Given the description of an element on the screen output the (x, y) to click on. 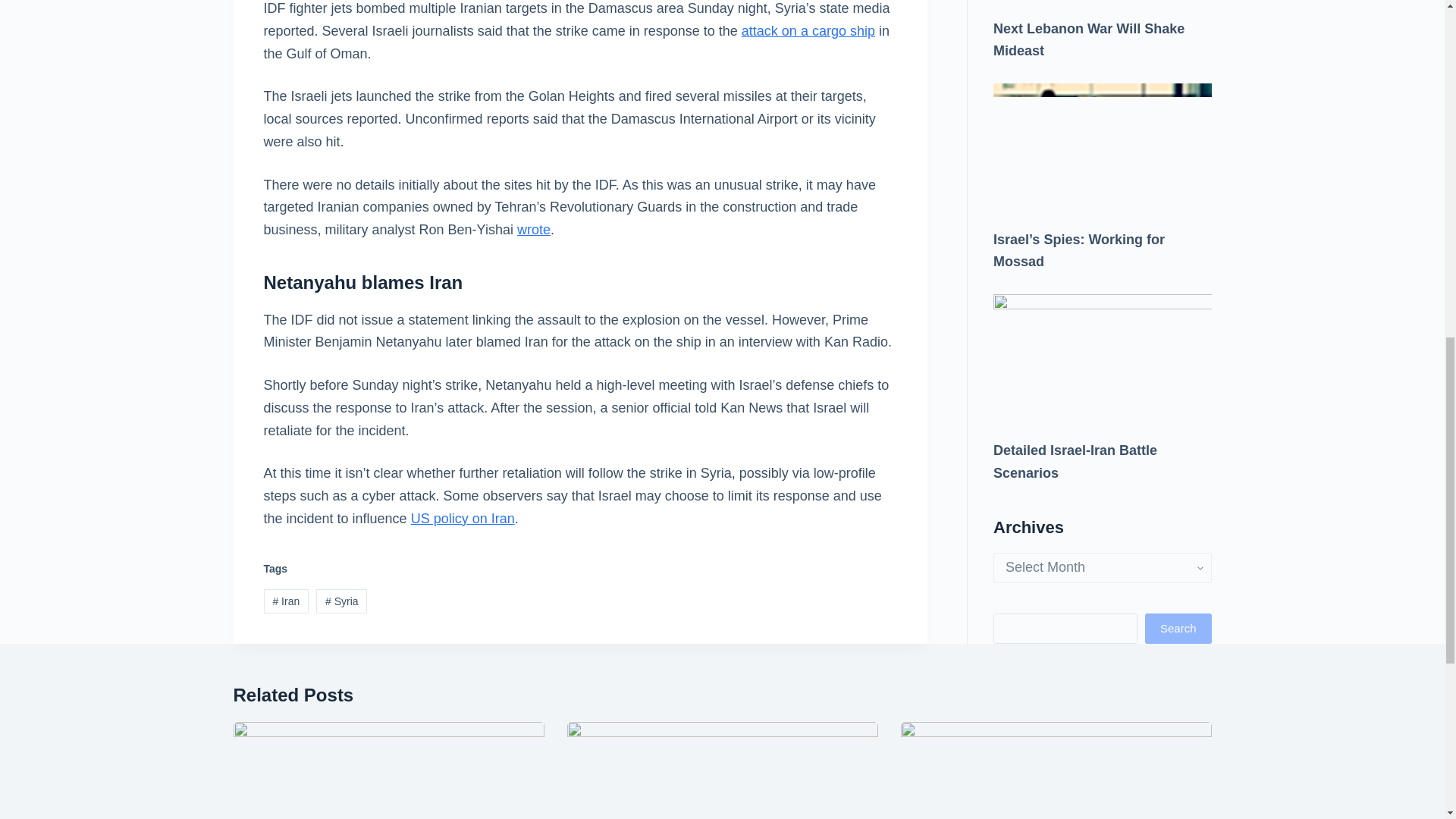
Search (1177, 111)
wrote (533, 229)
US policy on Iran (462, 518)
attack on a cargo ship (808, 30)
